Given the description of an element on the screen output the (x, y) to click on. 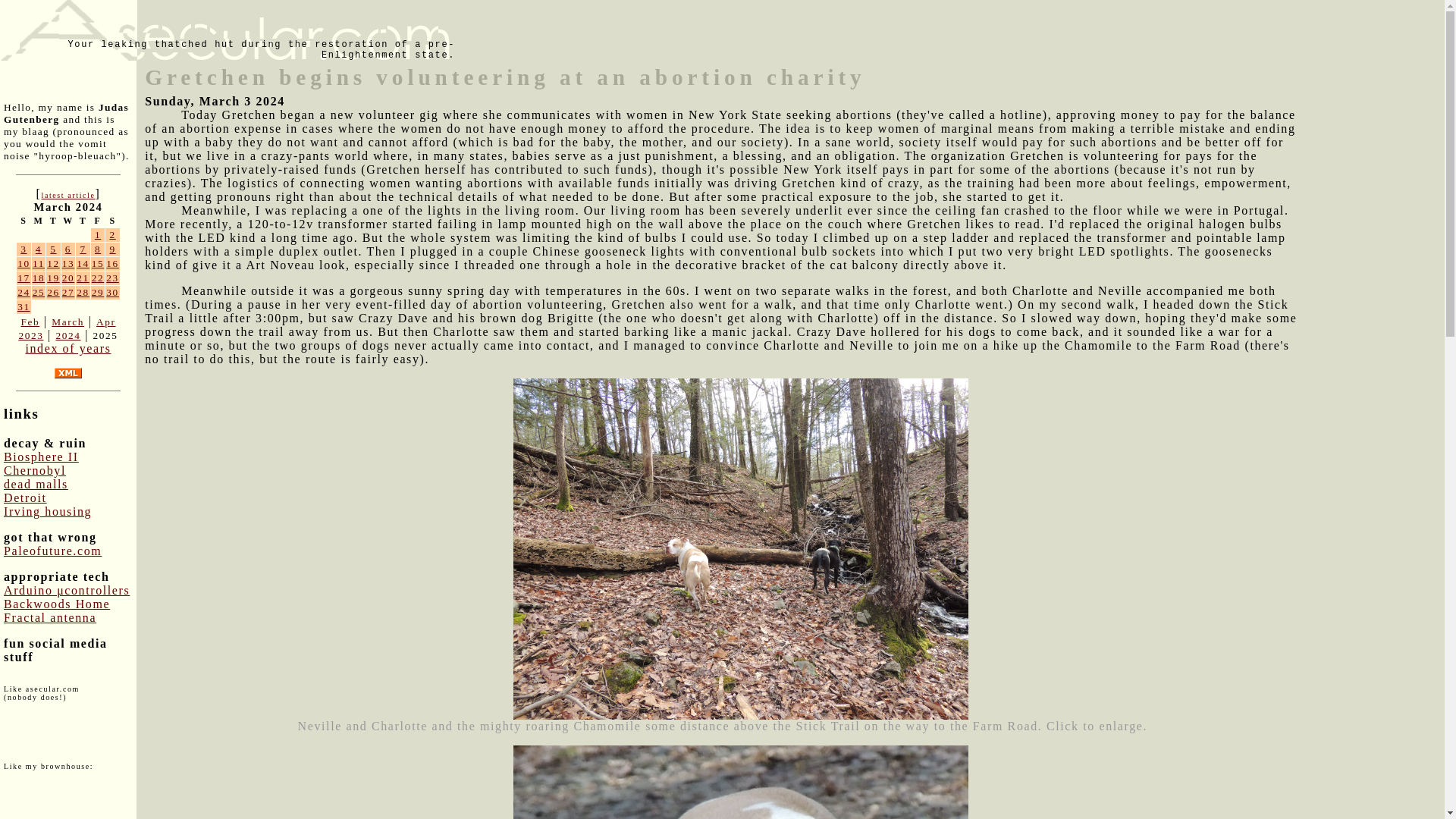
31 (23, 306)
index of years (67, 348)
15 (97, 263)
14 (82, 263)
28 (82, 292)
20 (68, 277)
10 (23, 263)
25 (38, 292)
24 (23, 292)
Biosphere II (41, 456)
Apr (106, 321)
26 (52, 292)
2024 (67, 335)
March (67, 321)
17 (23, 277)
